Given the description of an element on the screen output the (x, y) to click on. 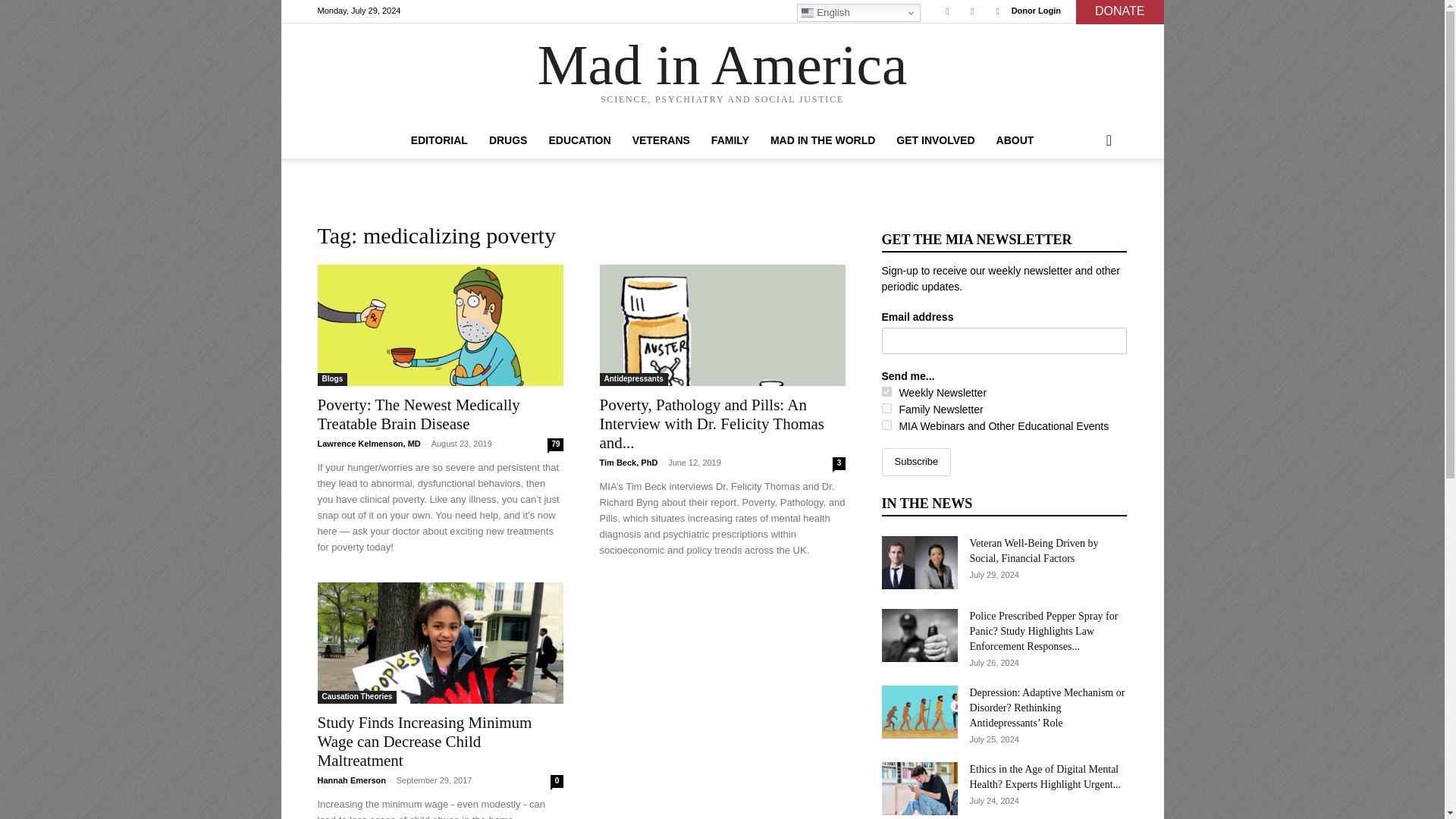
a8b577bac2 (885, 391)
Subscribe (915, 461)
59a3706891 (885, 424)
Twitter (972, 10)
Poverty: The Newest Medically Treatable Brain Disease (439, 324)
Youtube (998, 10)
Facebook (947, 10)
64ec82b4cd (885, 408)
